Given the description of an element on the screen output the (x, y) to click on. 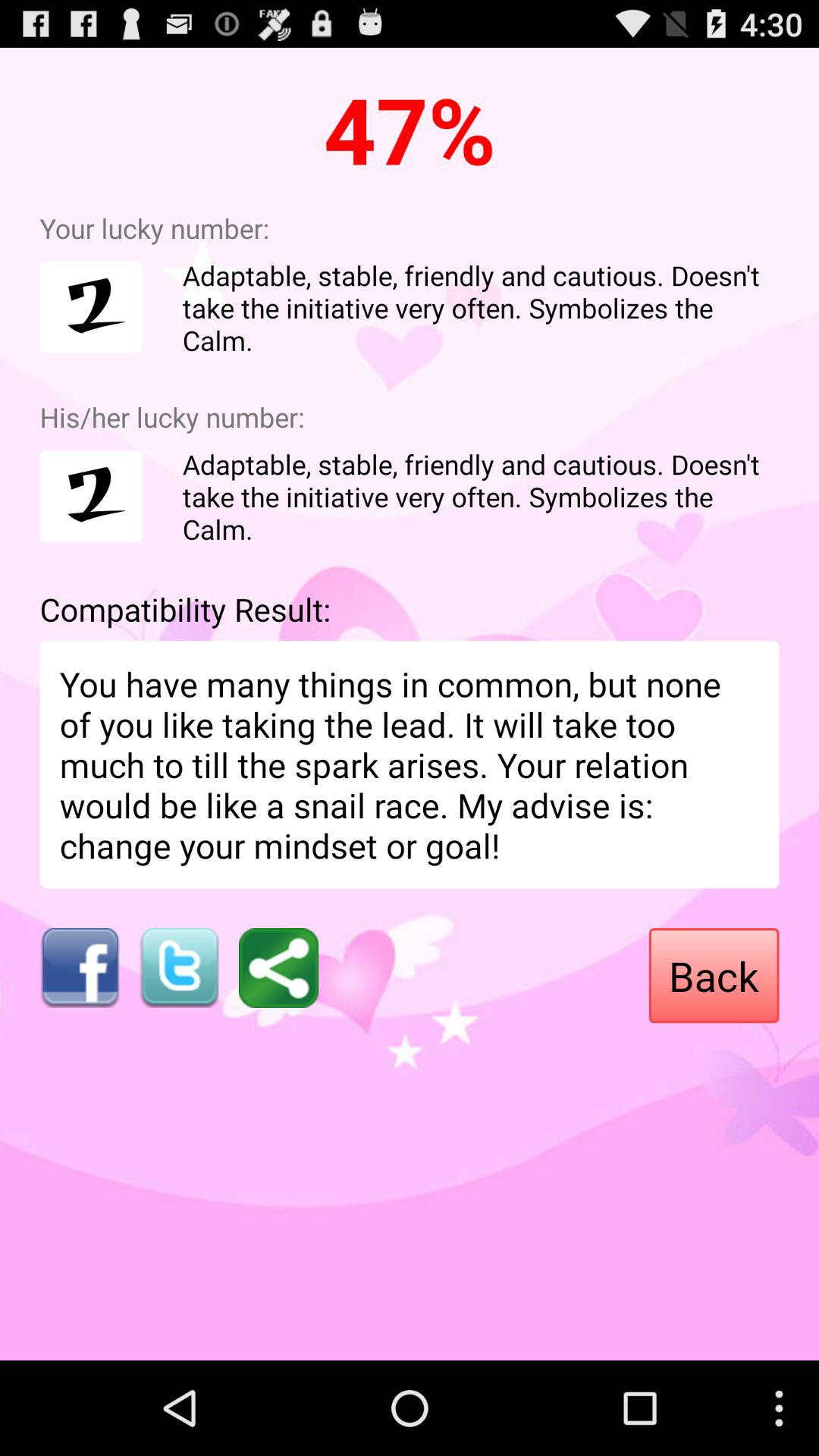
turn off the item below the you have many item (278, 967)
